Given the description of an element on the screen output the (x, y) to click on. 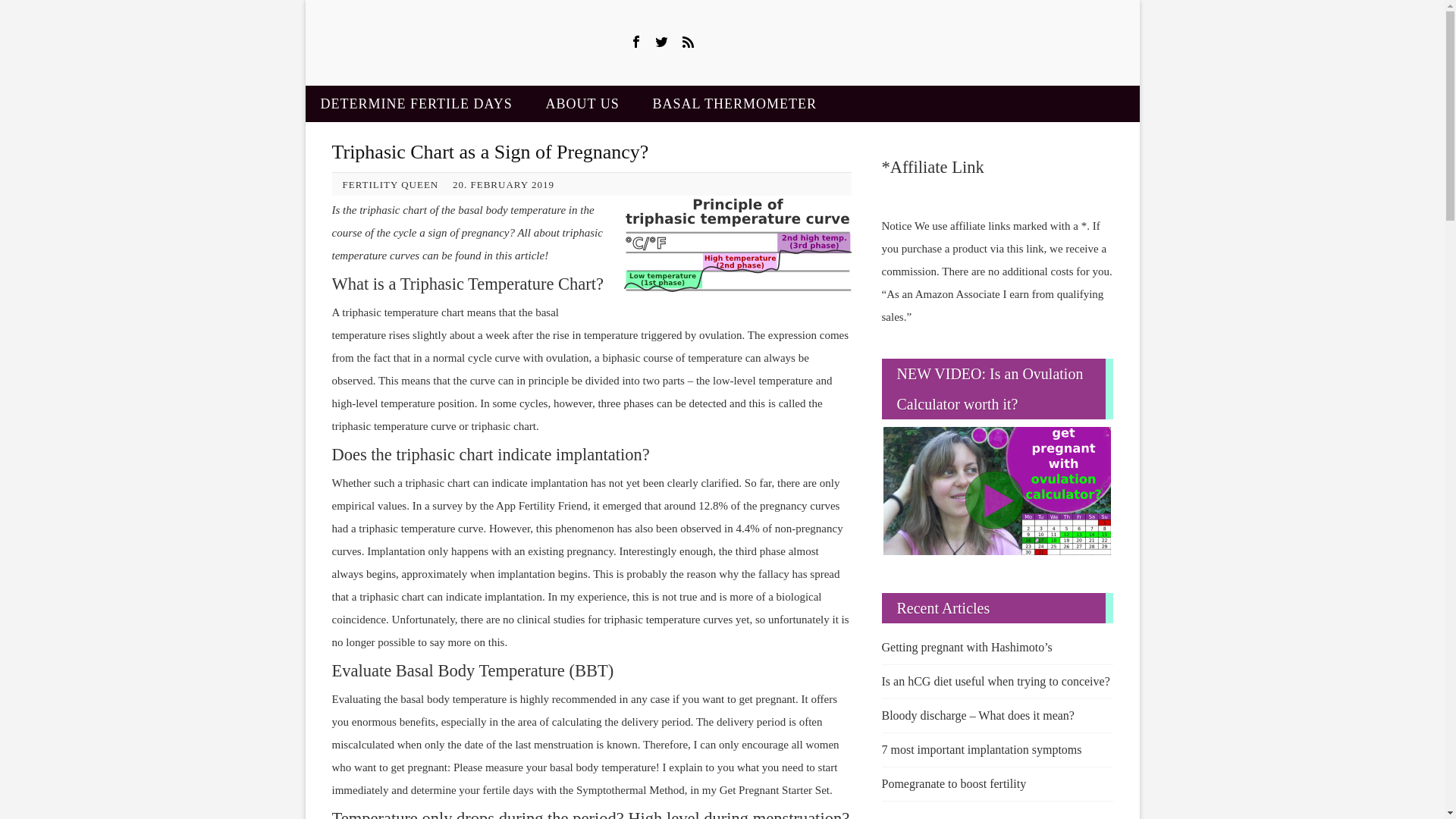
DETERMINE FERTILE DAYS (415, 103)
BASAL THERMOMETER (734, 103)
Twitter (662, 41)
rss feed (688, 41)
2019-02-20 (509, 184)
7 most important implantation symptoms (996, 749)
Is an hCG diet useful when trying to conceive? (996, 681)
Pomegranate to boost fertility (996, 783)
Facebook (635, 41)
ABOUT US (582, 103)
